Given the description of an element on the screen output the (x, y) to click on. 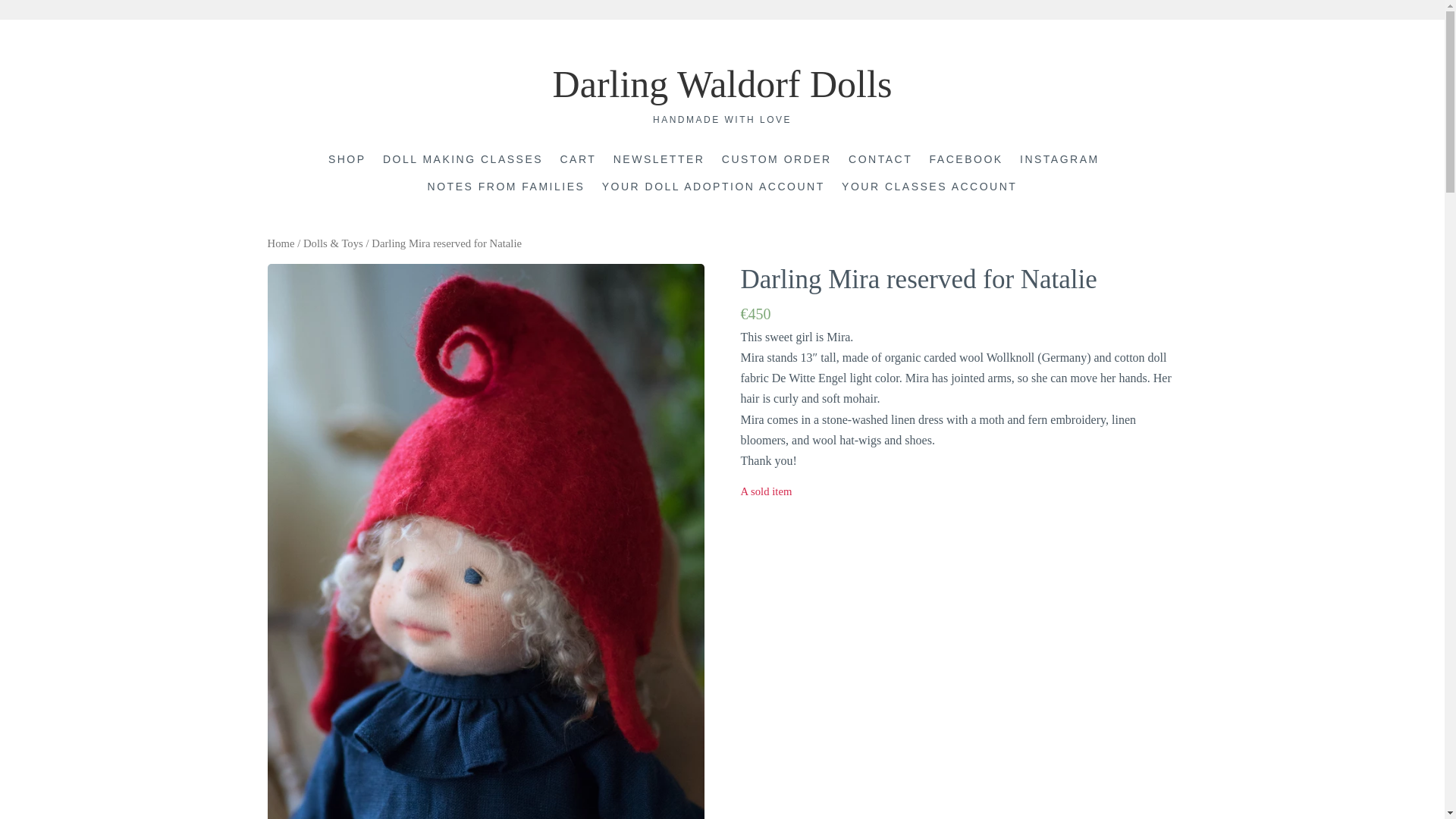
FACEBOOK (966, 160)
YOUR CLASSES ACCOUNT (928, 188)
CUSTOM ORDER (776, 160)
Home (280, 243)
CART (577, 160)
NEWSLETTER (658, 160)
DOLL MAKING CLASSES (462, 160)
SHOP (347, 160)
NOTES FROM FAMILIES (506, 188)
Darling Waldorf Dolls (722, 84)
INSTAGRAM (1059, 160)
CONTACT (880, 160)
YOUR DOLL ADOPTION ACCOUNT (713, 188)
